Given the description of an element on the screen output the (x, y) to click on. 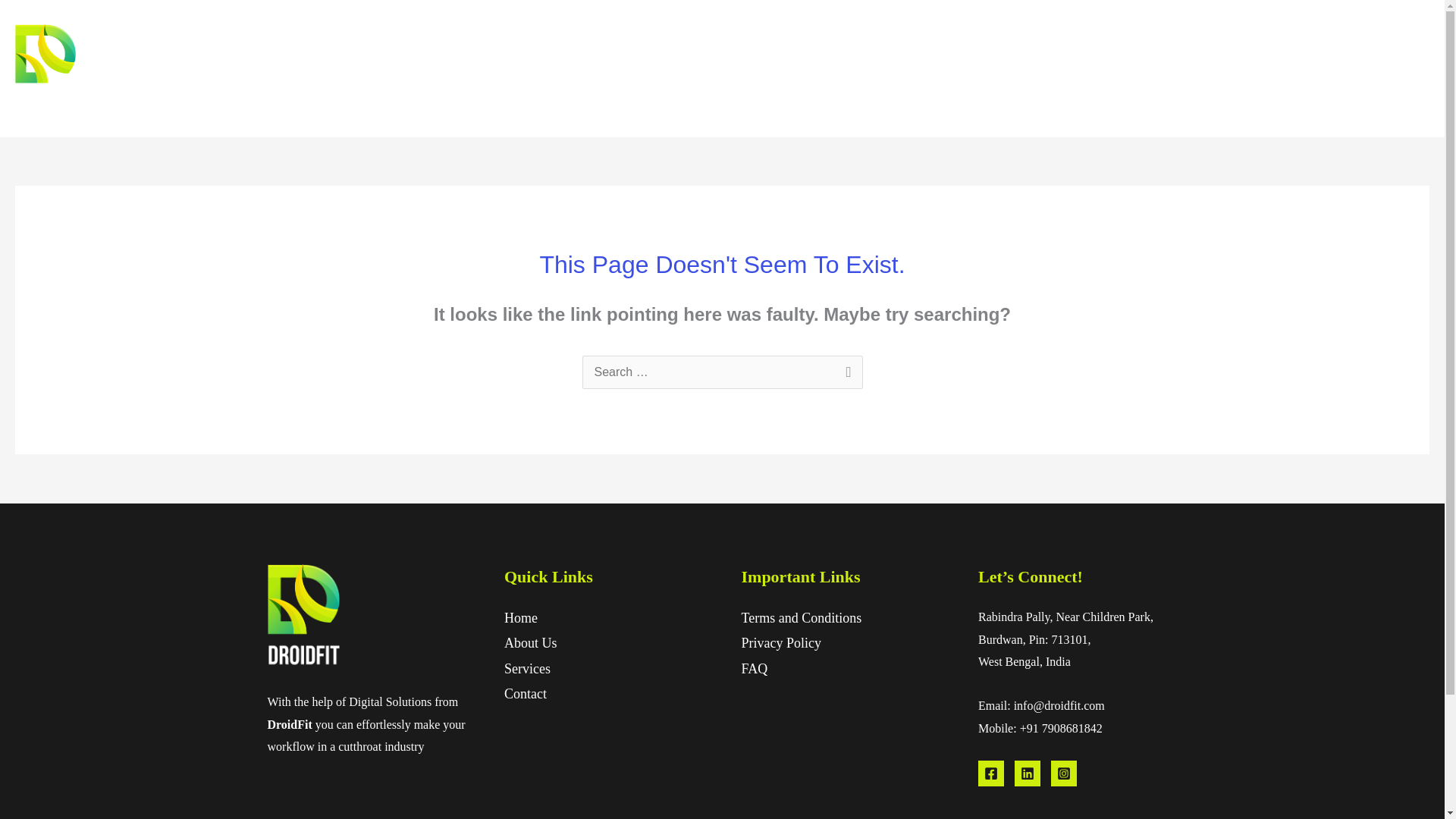
Home (1189, 68)
About Us (530, 642)
About Us (1255, 68)
Contact (1395, 68)
Home (520, 617)
Services (526, 668)
Privacy Policy (781, 642)
Services (1327, 68)
FAQ (754, 668)
Contact (525, 693)
